Given the description of an element on the screen output the (x, y) to click on. 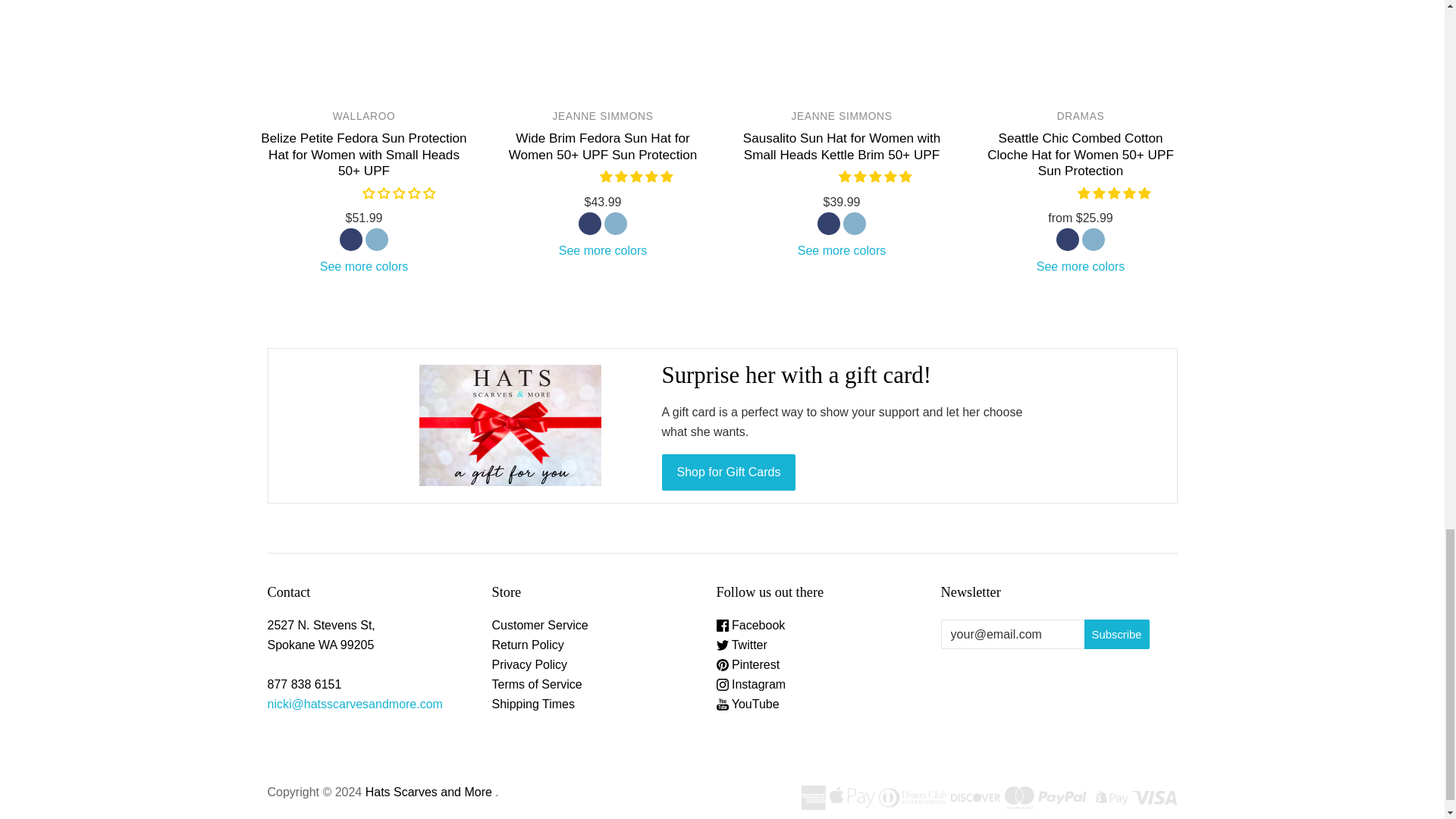
Jeanne Simmons (842, 116)
Facebook (751, 625)
Pinterest (748, 664)
Dramas (1081, 116)
Wallaroo (364, 116)
YouTube (747, 703)
Twitter (741, 644)
Subscribe (1117, 634)
Instagram (751, 684)
Jeanne Simmons (603, 116)
